Given the description of an element on the screen output the (x, y) to click on. 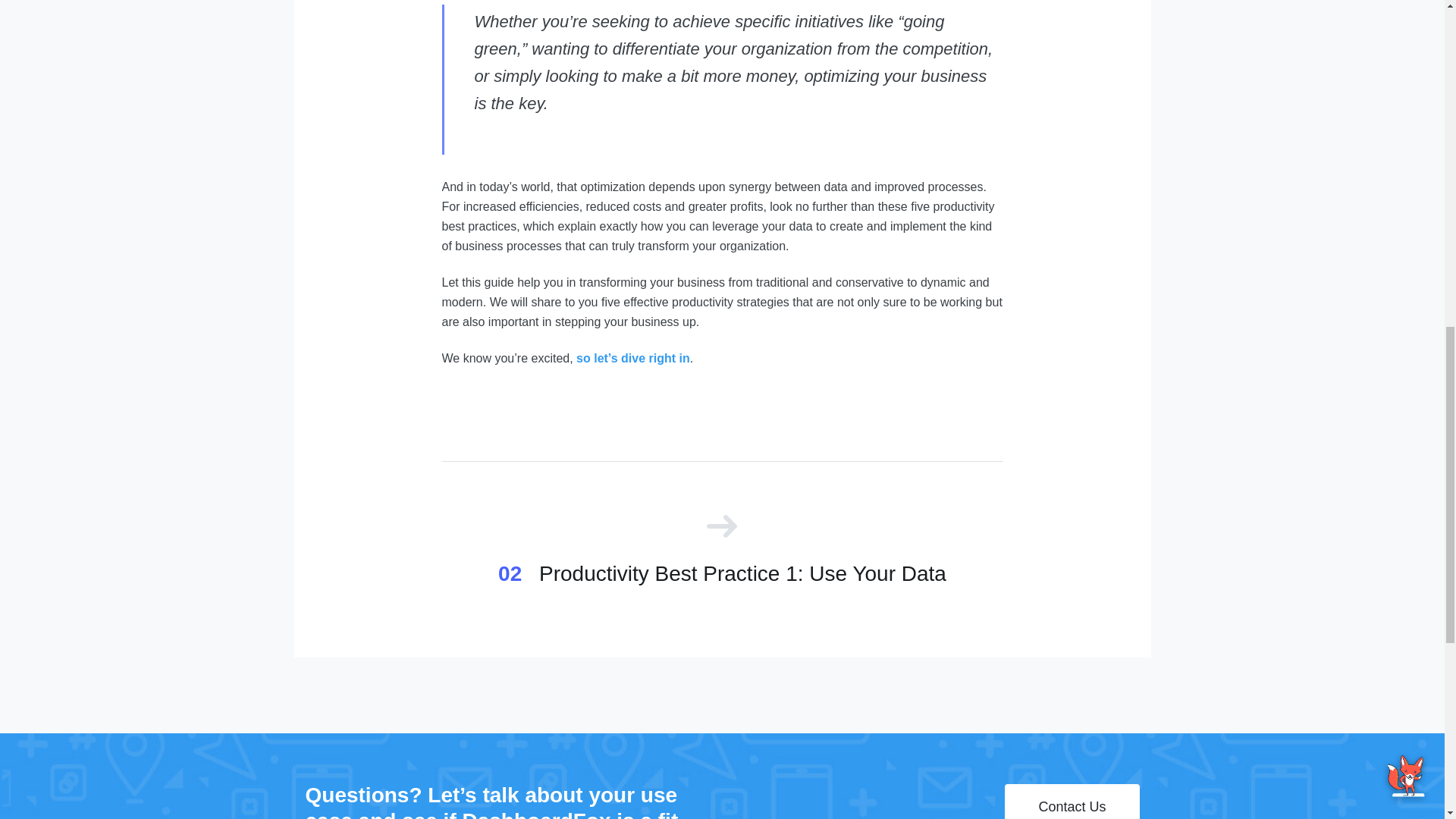
Contact Us (1071, 801)
02 Productivity Best Practice 1: Use Your Data (721, 551)
